Given the description of an element on the screen output the (x, y) to click on. 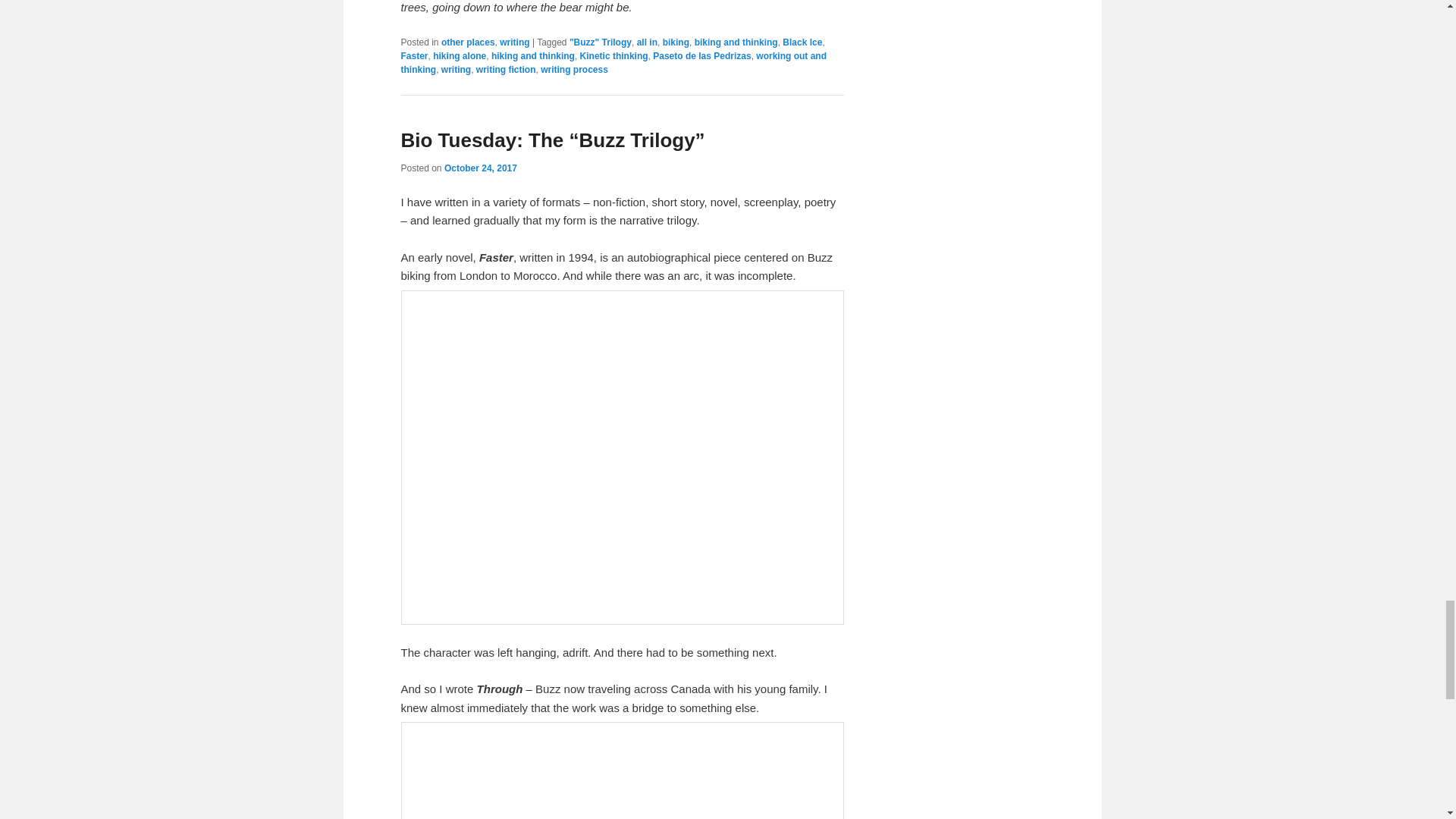
11:16 am (480, 167)
